Given the description of an element on the screen output the (x, y) to click on. 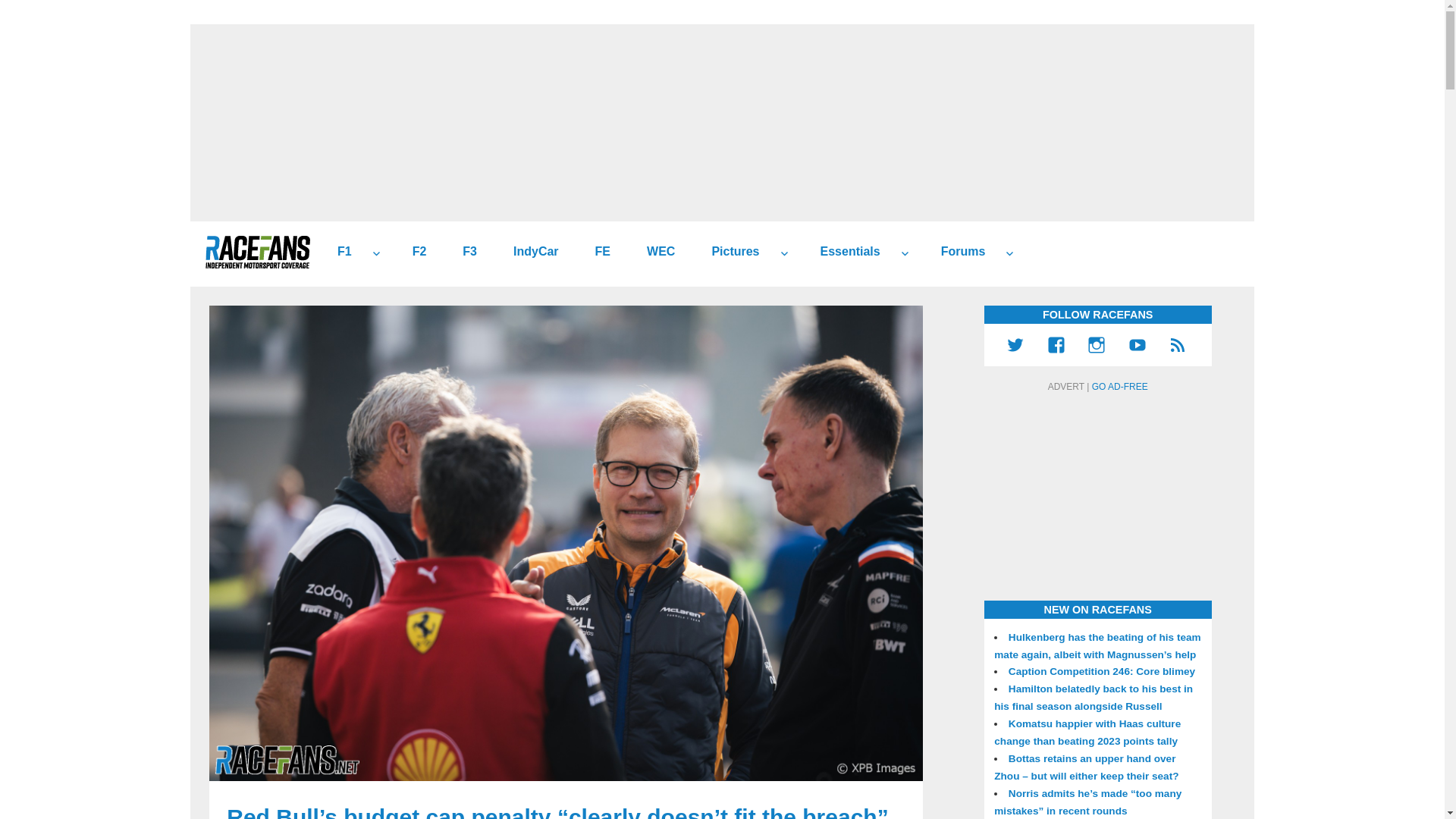
Essentials (844, 251)
RaceFans (257, 252)
WEC (655, 251)
F3 (463, 251)
expand child menu (376, 253)
F2 (413, 251)
FE (596, 251)
F1 pictures and wallpapers (729, 251)
F1 (338, 251)
Formula 1 (338, 251)
